Given the description of an element on the screen output the (x, y) to click on. 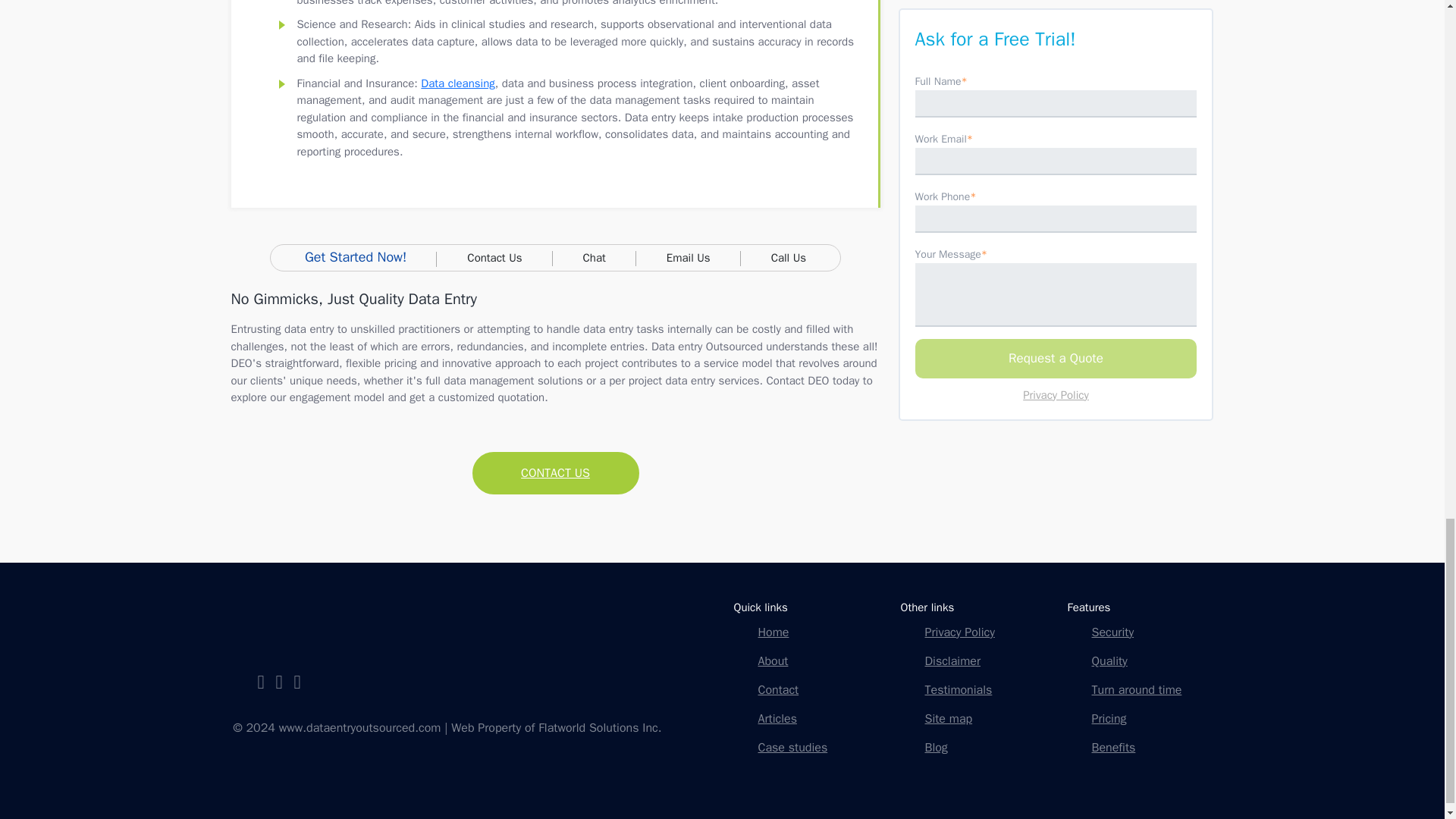
Contact Us (555, 472)
Data Entry Outsourced Footer Logo (285, 621)
Data Cleansing Services (457, 83)
